Given the description of an element on the screen output the (x, y) to click on. 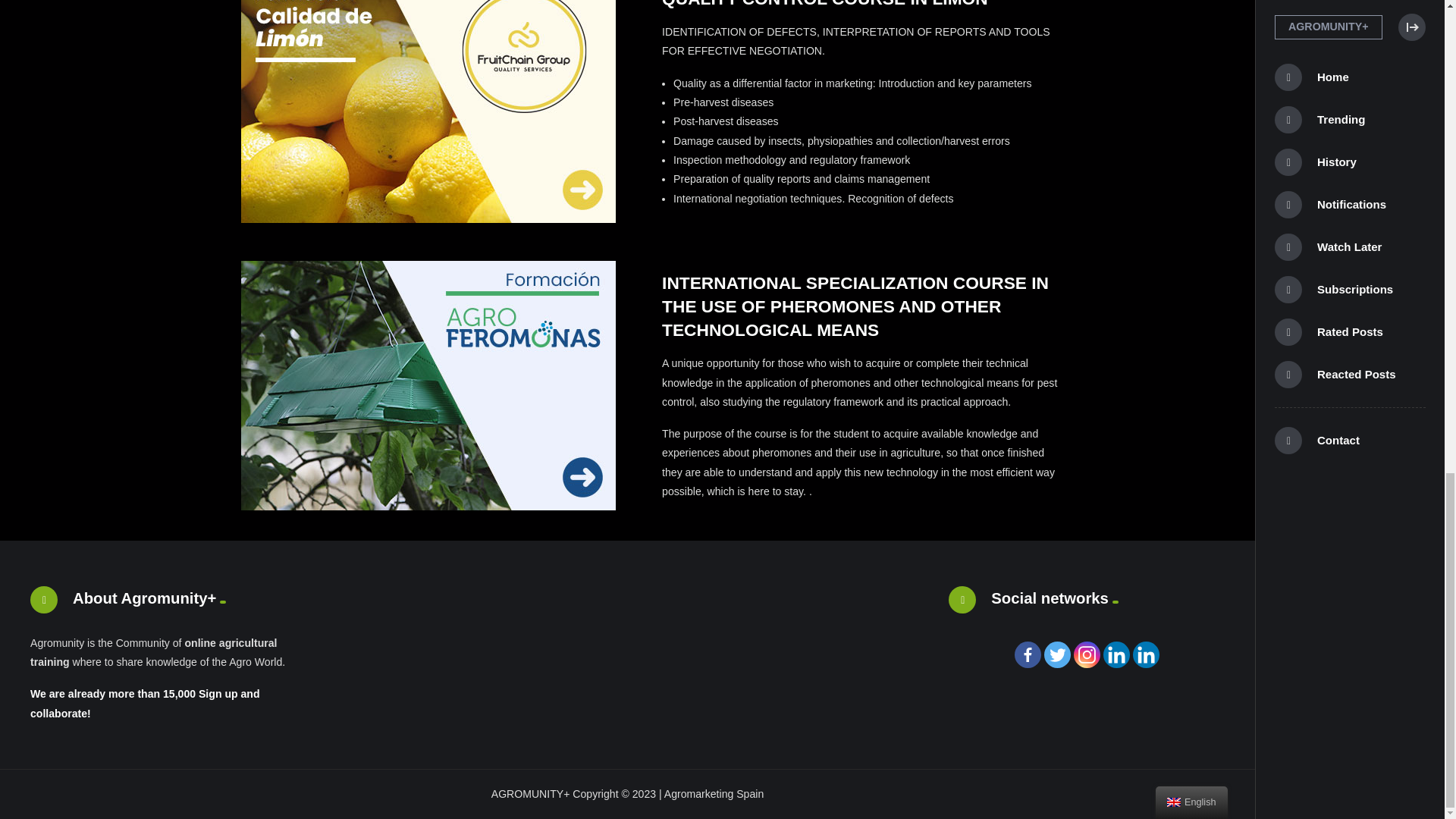
We are already more than 15,000 Sign up and collaborate! (145, 703)
Linkedin (1116, 654)
Twitter (1056, 654)
Facebook (1027, 654)
linkedincompany (1145, 654)
instagram (1087, 654)
